Given the description of an element on the screen output the (x, y) to click on. 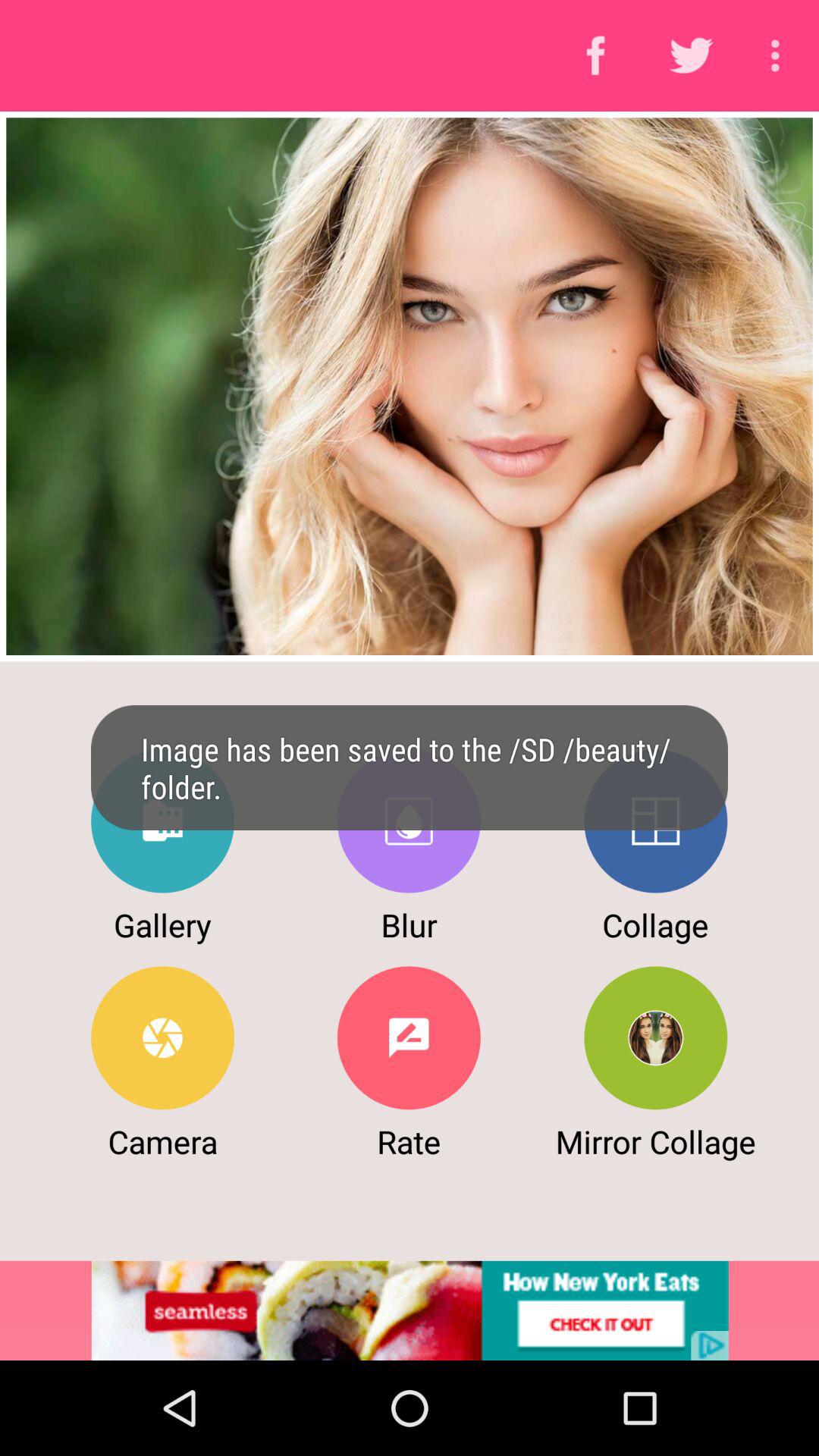
blur image (408, 820)
